Given the description of an element on the screen output the (x, y) to click on. 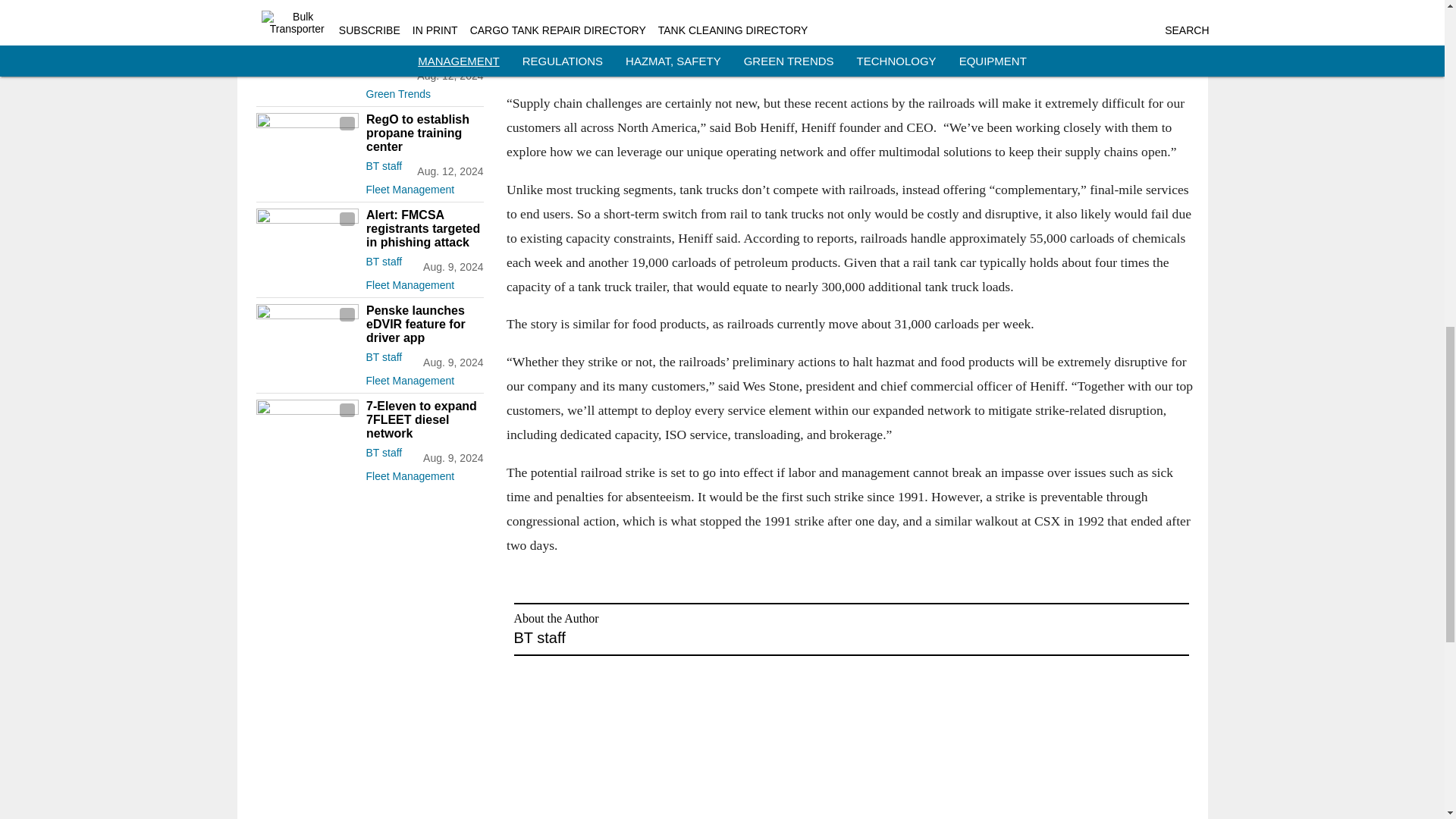
BT staff (383, 261)
Fleet Management (424, 281)
Fleet Management (424, 186)
Alert: FMCSA registrants targeted in phishing attack (424, 228)
RegO to establish propane training center (424, 133)
Green Trends (424, 90)
Highway Transport to equip electric APUs (424, 37)
BT staff (383, 165)
BT staff (383, 70)
